Given the description of an element on the screen output the (x, y) to click on. 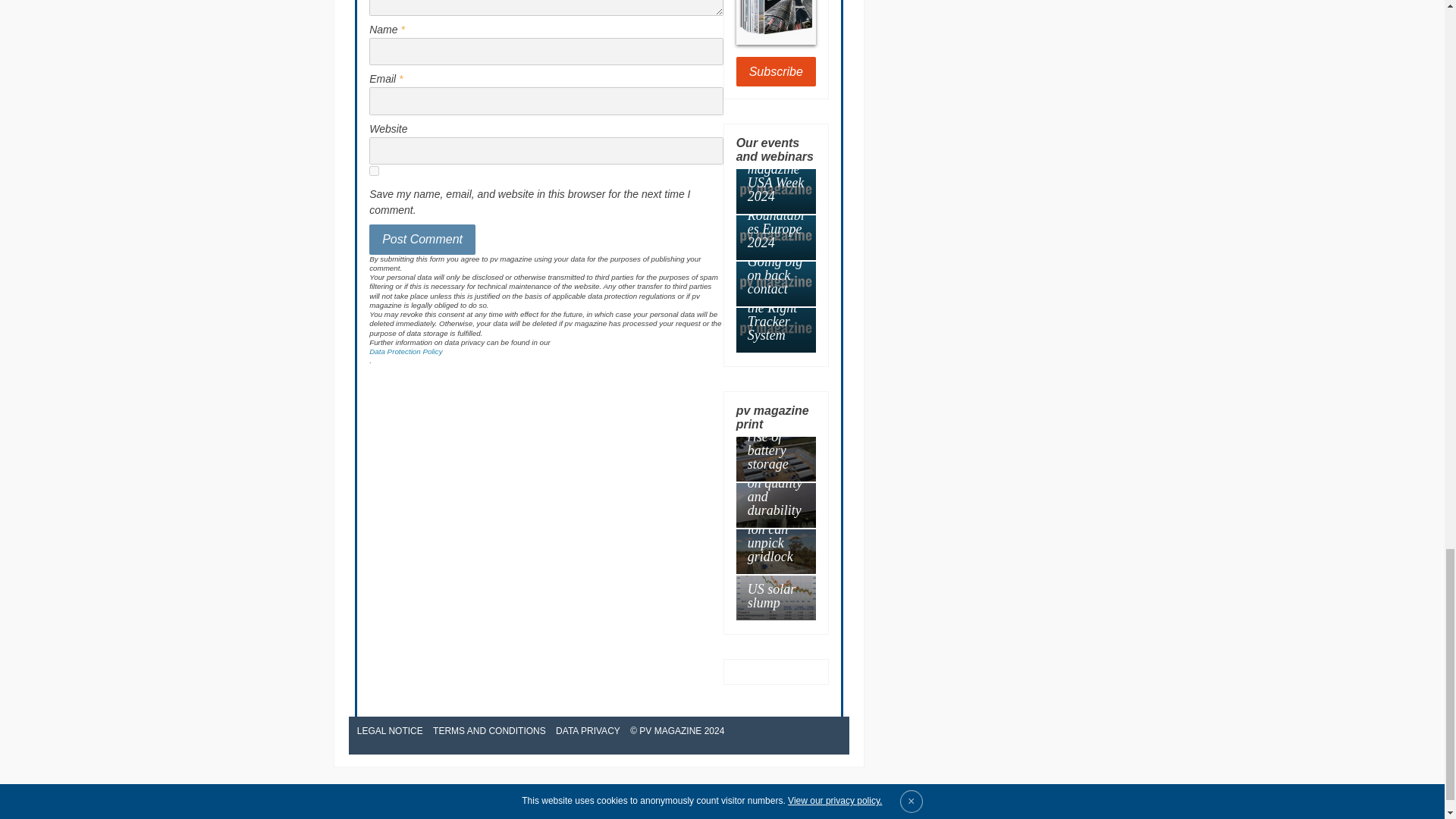
Post Comment (422, 239)
yes (373, 171)
